Given the description of an element on the screen output the (x, y) to click on. 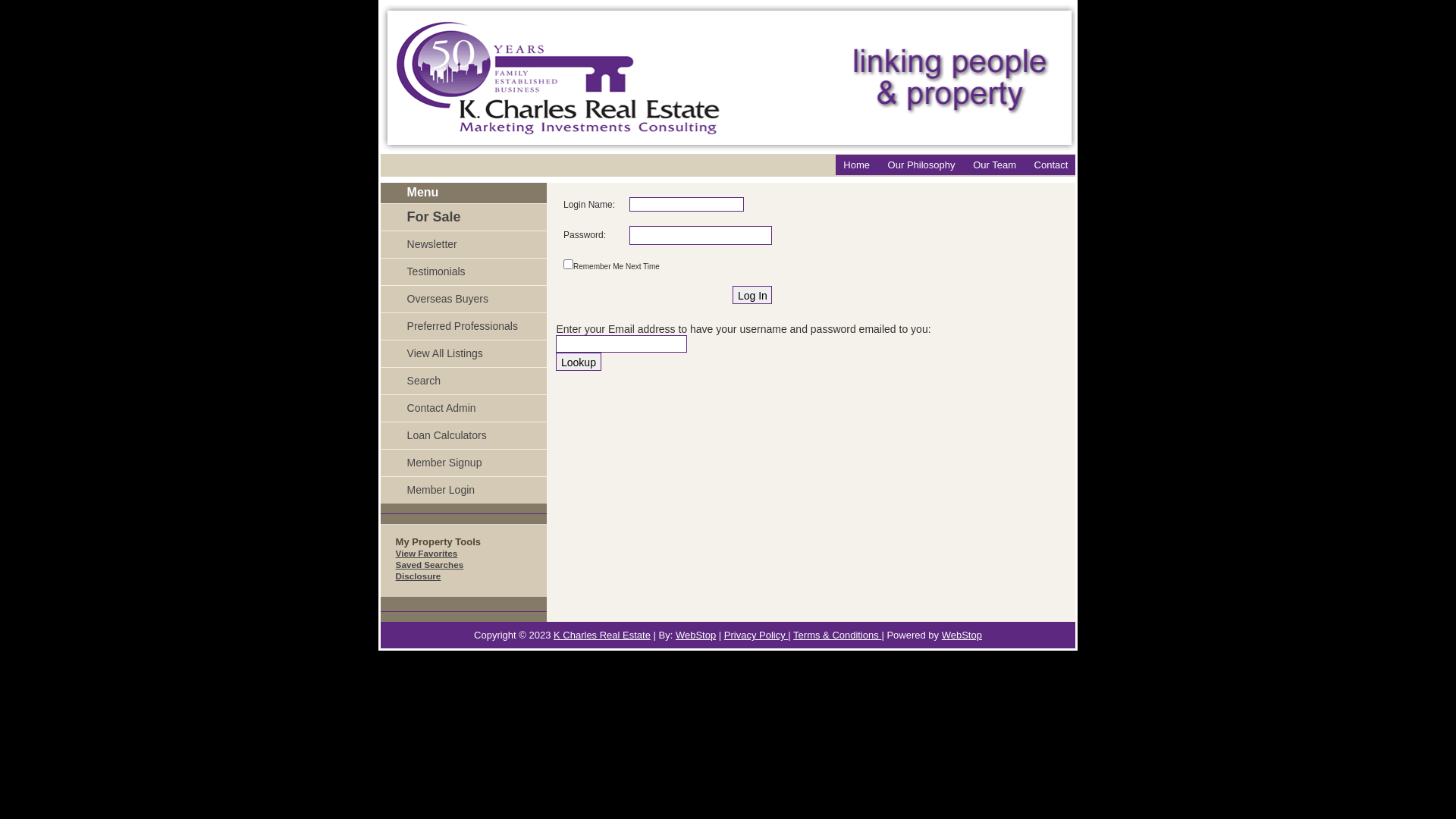
K Charles Real Estate Element type: text (601, 634)
Disclosure Element type: text (418, 575)
Overseas Buyers Element type: text (463, 298)
Member Login Element type: text (463, 489)
Home Element type: text (856, 164)
Our Philosophy Element type: text (921, 164)
Terms & Conditions Element type: text (837, 634)
WebStop Element type: text (695, 634)
Search Element type: text (463, 380)
View All Listings Element type: text (463, 353)
Testimonials Element type: text (463, 271)
Newsletter Element type: text (463, 243)
Contact Admin Element type: text (463, 407)
View Favorites Element type: text (426, 553)
Lookup Element type: text (577, 361)
Saved Searches Element type: text (429, 564)
Our Team Element type: text (994, 164)
Loan Calculators Element type: text (463, 434)
Log In Element type: text (751, 294)
Privacy Policy Element type: text (756, 634)
WebStop Element type: text (961, 634)
Member Signup Element type: text (463, 462)
Contact Element type: text (1051, 164)
Preferred Professionals Element type: text (463, 325)
For Sale Element type: text (463, 216)
